Given the description of an element on the screen output the (x, y) to click on. 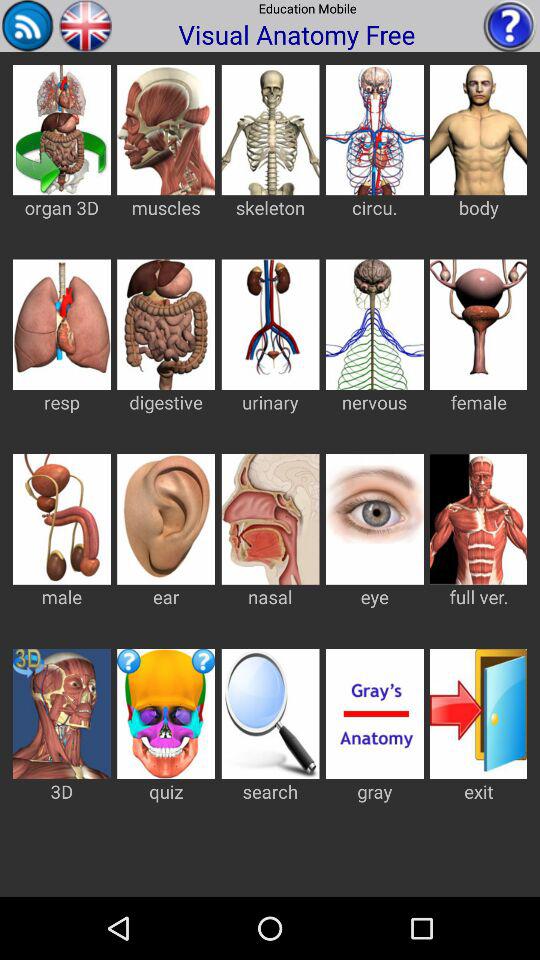
ask question (509, 25)
